Given the description of an element on the screen output the (x, y) to click on. 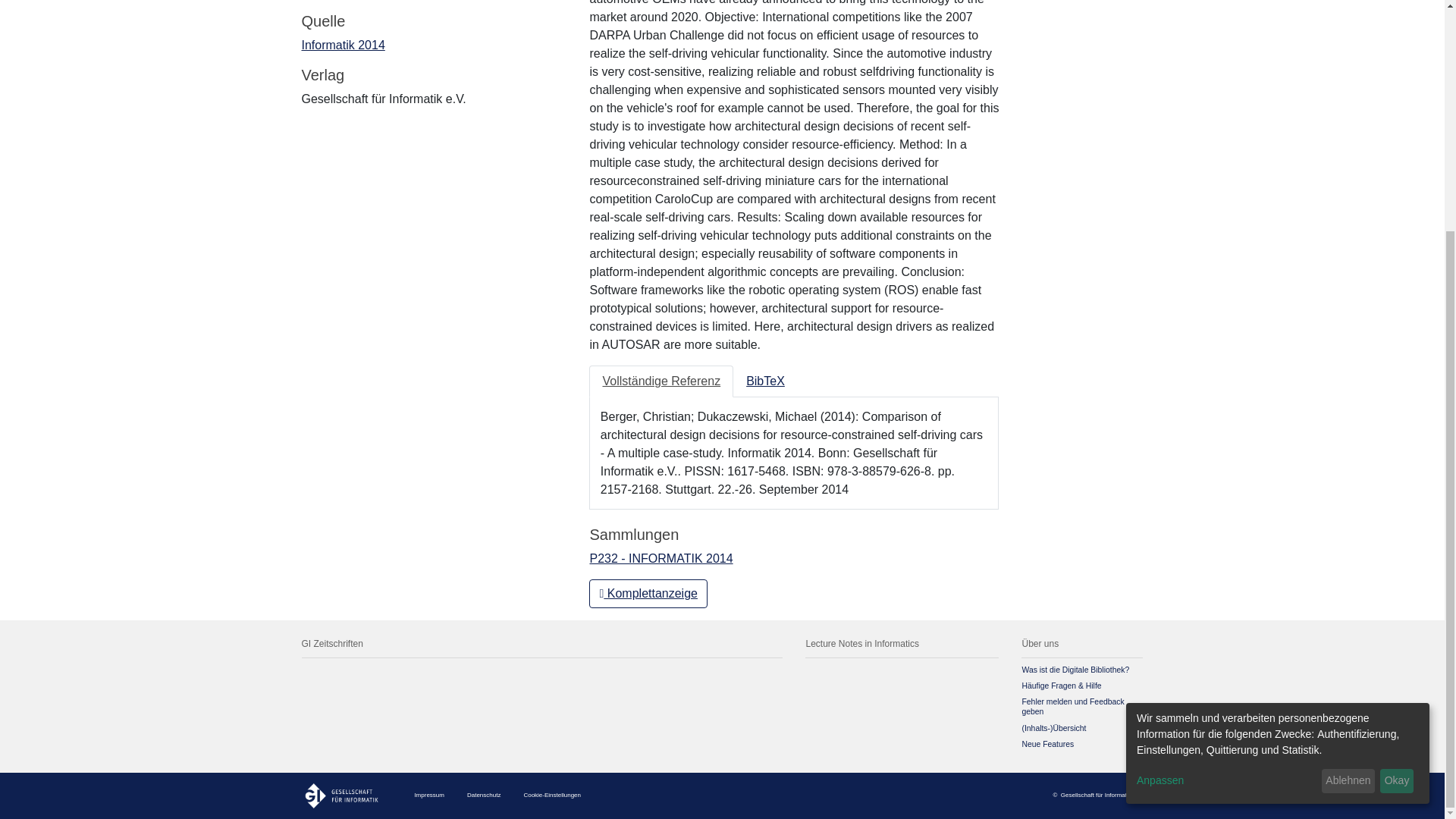
Datenschutz (483, 794)
Komplettanzeige (647, 593)
Cookie-Einstellungen (551, 794)
Fehler melden und Feedback geben (1073, 706)
BibTeX (765, 381)
Neue Features (1048, 744)
Okay (1396, 467)
Impressum (428, 794)
Ablehnen (1348, 467)
Was ist die Digitale Bibliothek? (1075, 669)
